Given the description of an element on the screen output the (x, y) to click on. 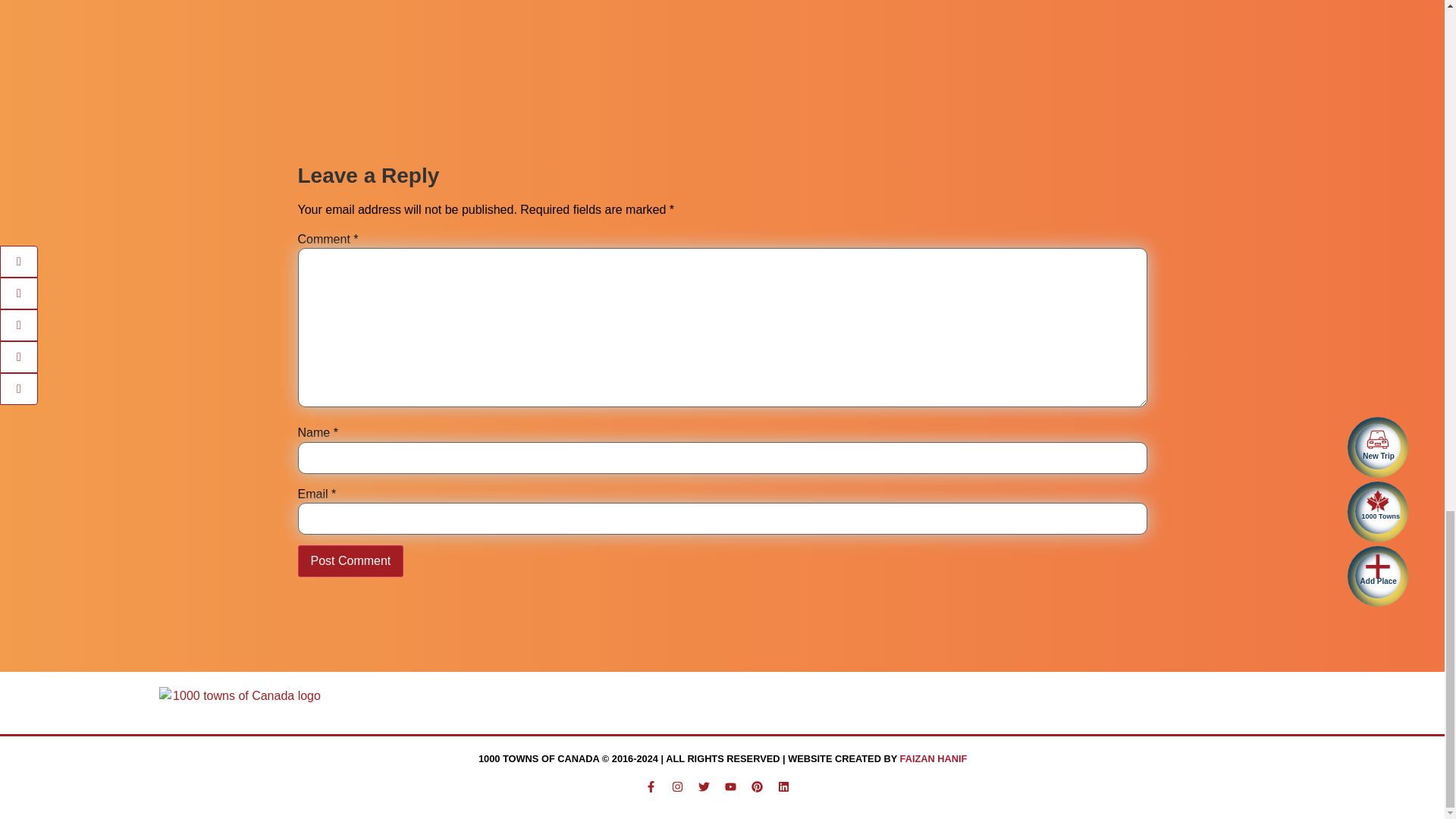
Post Comment (350, 561)
